Given the description of an element on the screen output the (x, y) to click on. 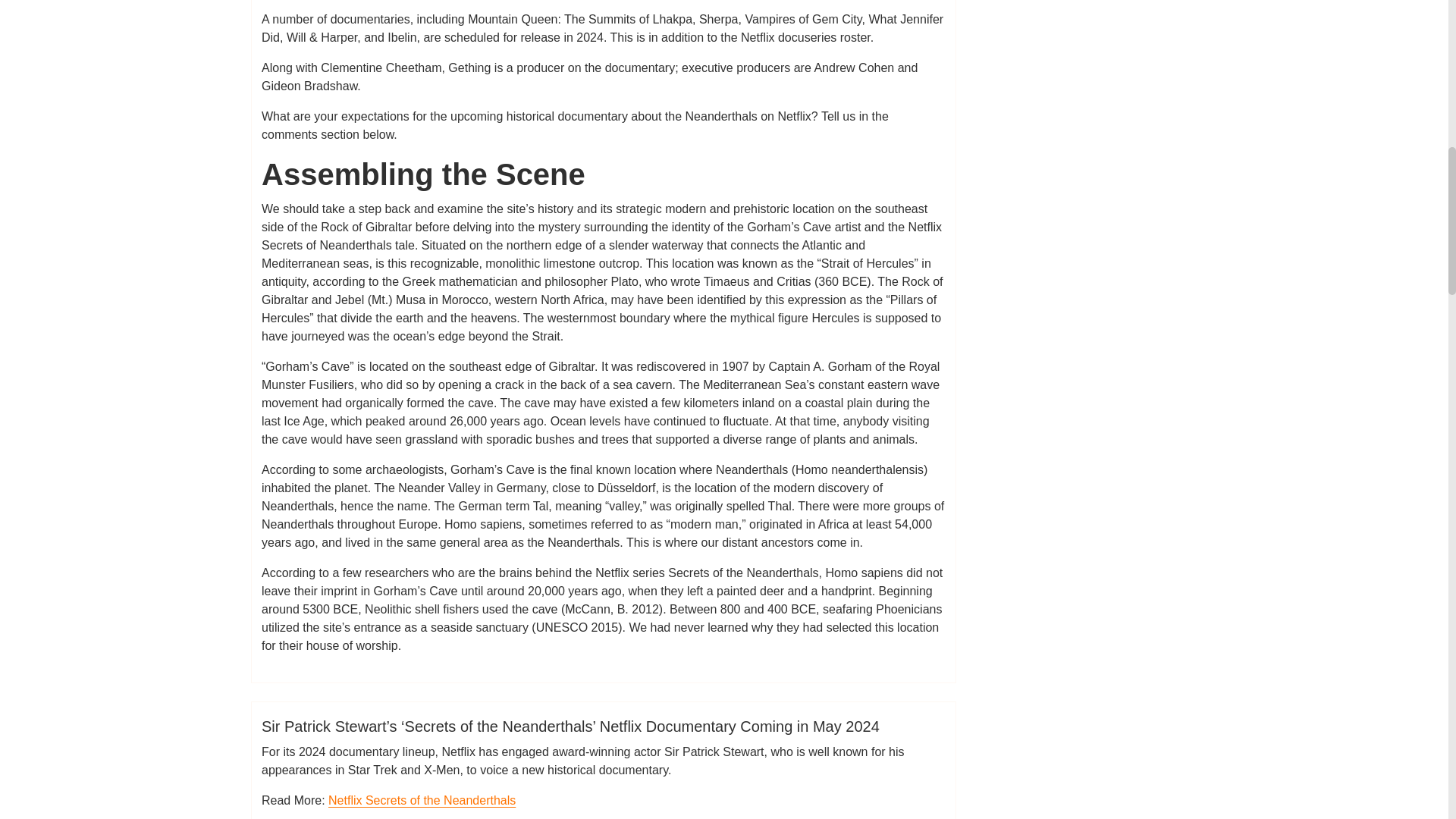
Netflix Secrets of the Neanderthals (422, 799)
